Given the description of an element on the screen output the (x, y) to click on. 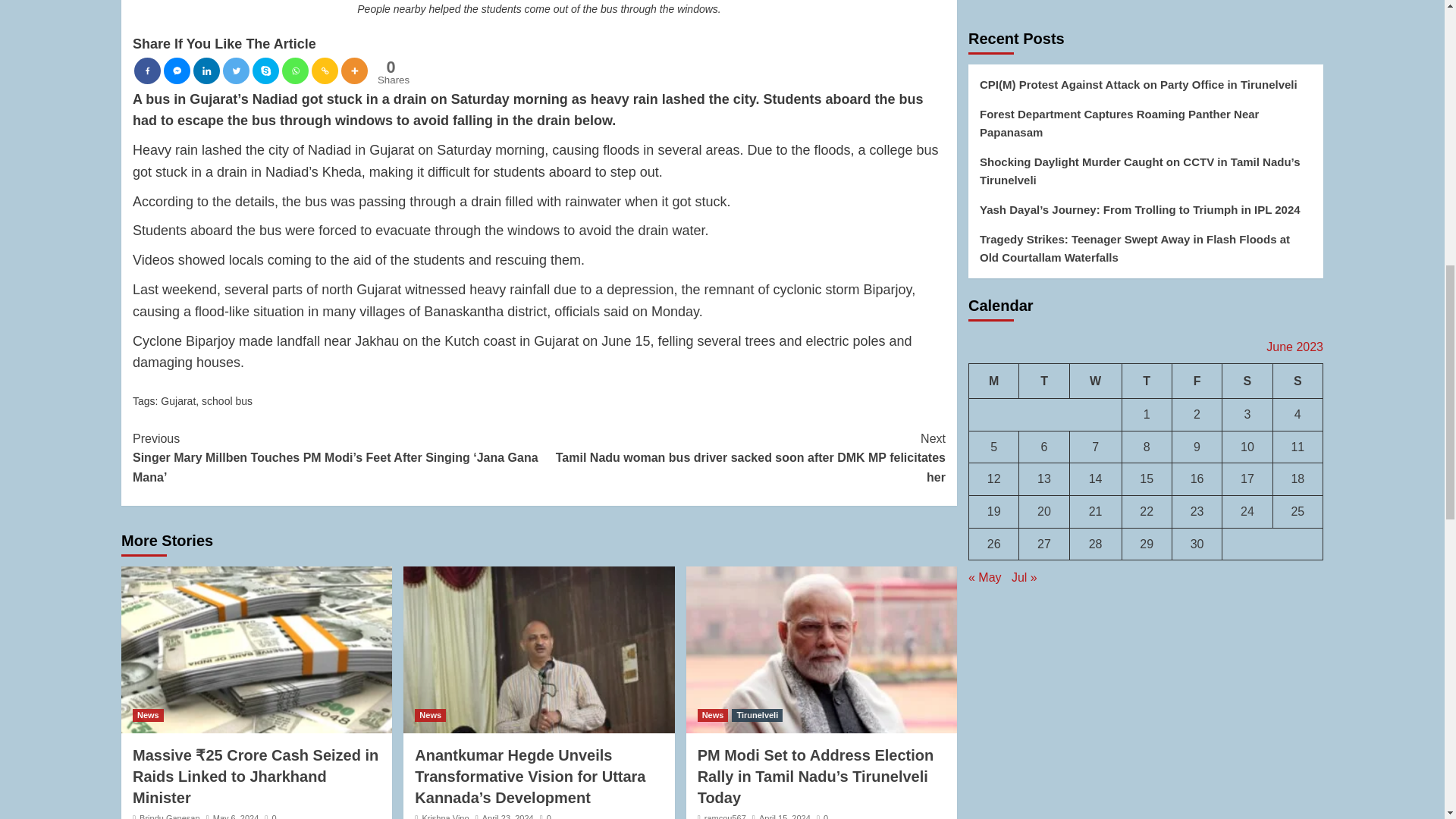
Whatsapp (295, 70)
News (147, 715)
Skype (265, 70)
Gujarat (177, 400)
Linkedin (206, 70)
Twitter (235, 70)
Total Shares (390, 71)
More (354, 70)
Brindu Ganesan (169, 816)
Copy Link (388, 71)
Facebook (324, 70)
school bus (146, 70)
